Given the description of an element on the screen output the (x, y) to click on. 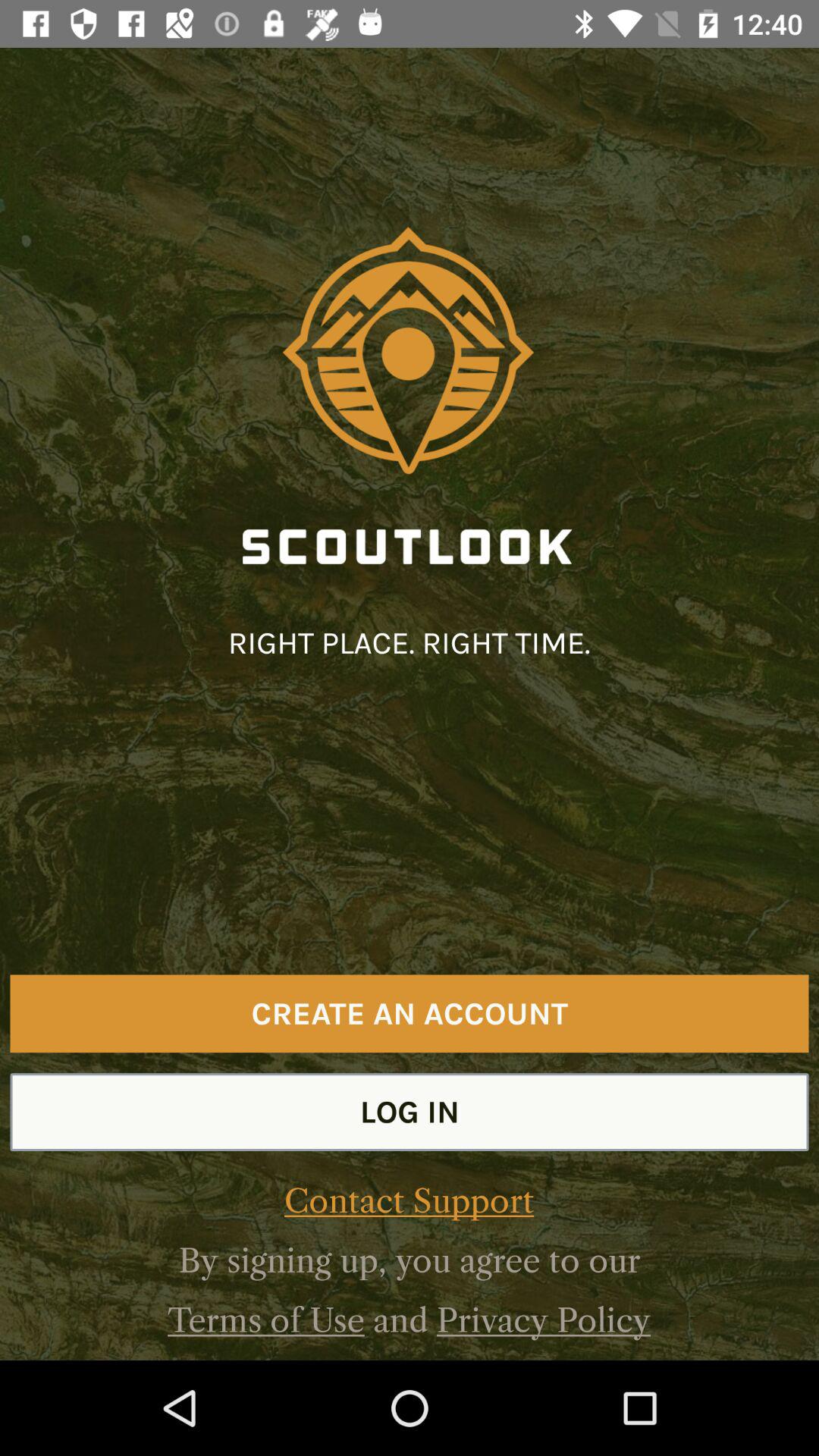
launch the item above the contact support (409, 1112)
